Given the description of an element on the screen output the (x, y) to click on. 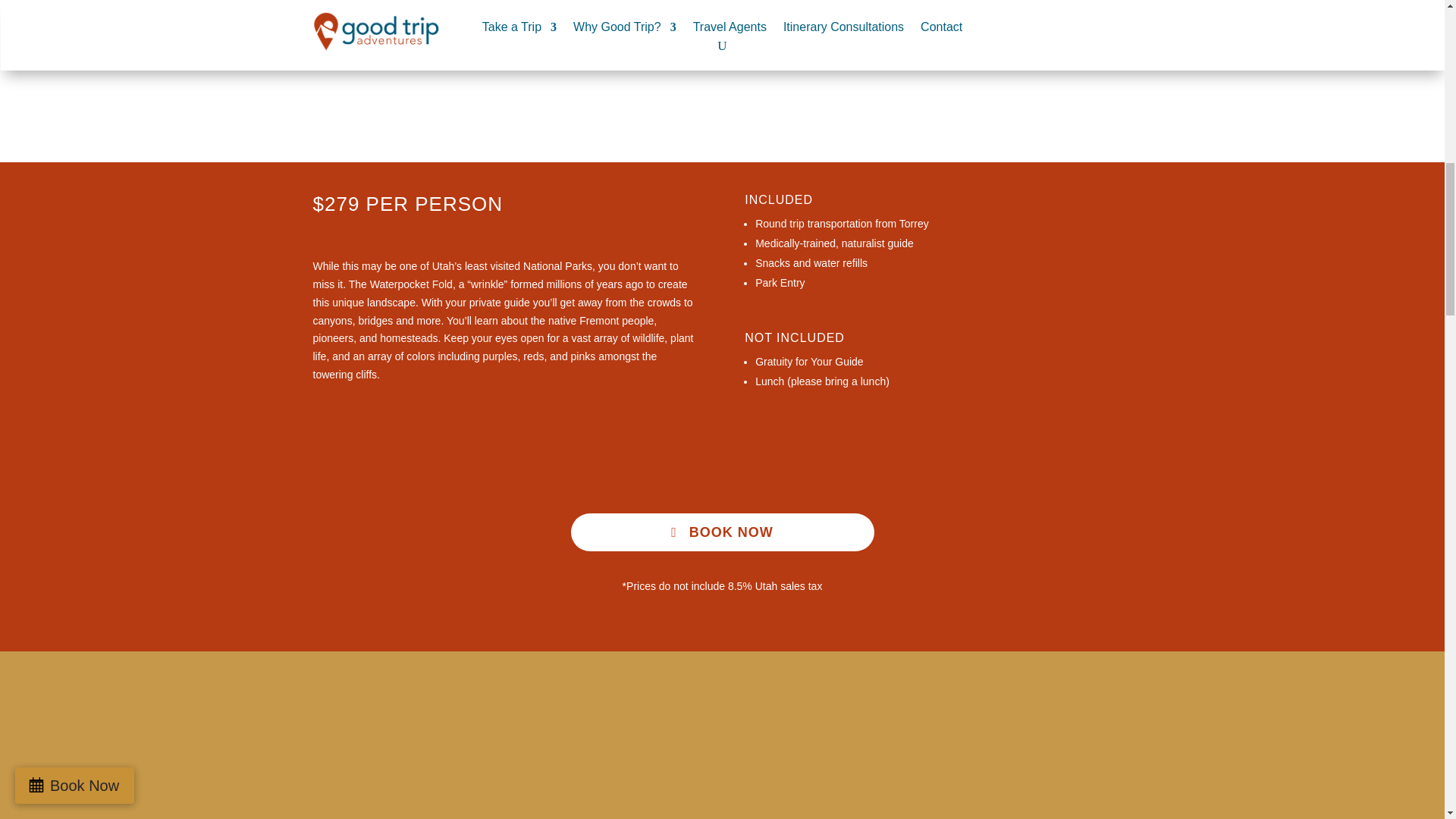
FareHarbor (1342, 64)
